Given the description of an element on the screen output the (x, y) to click on. 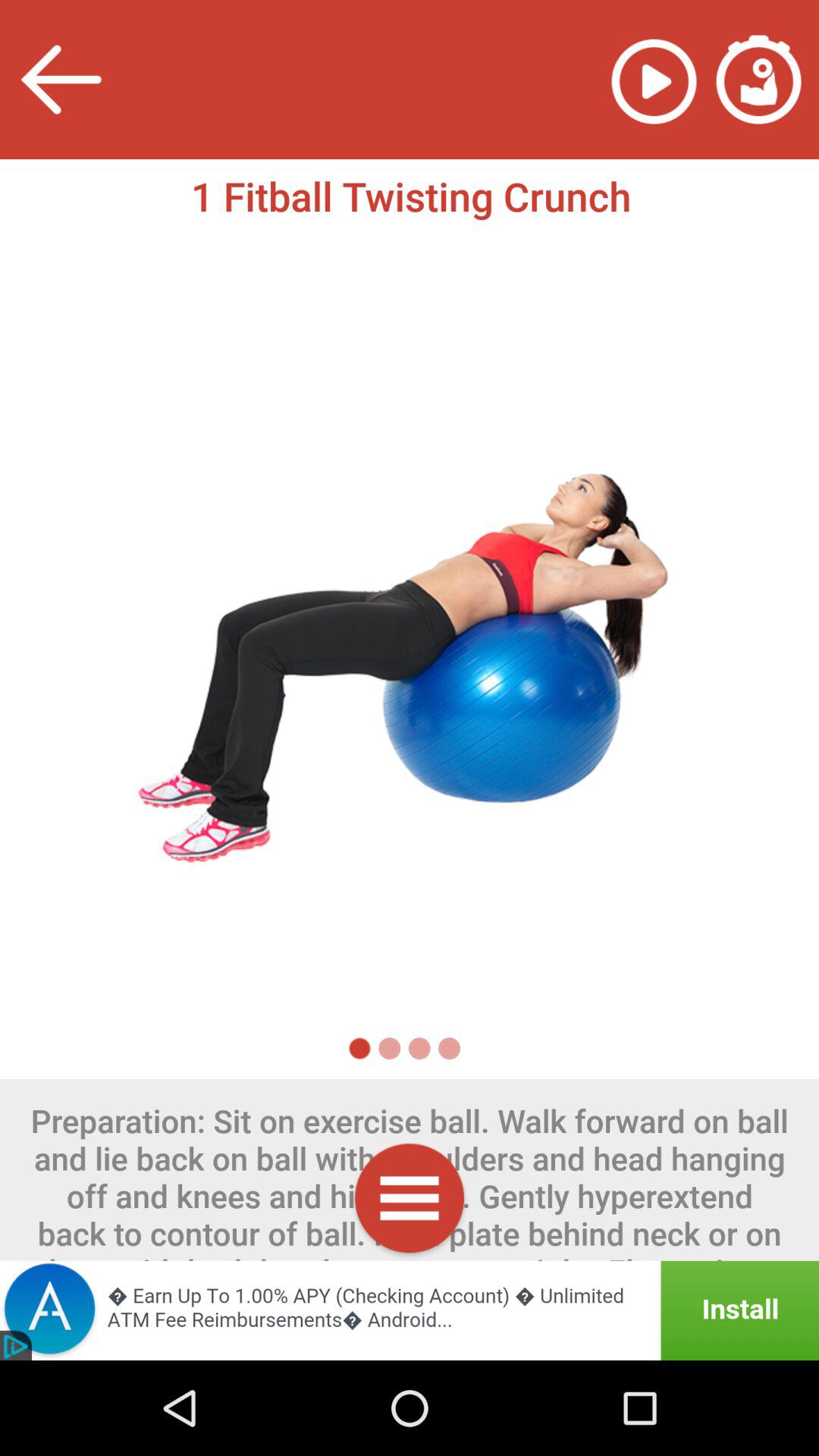
menu (409, 1200)
